Given the description of an element on the screen output the (x, y) to click on. 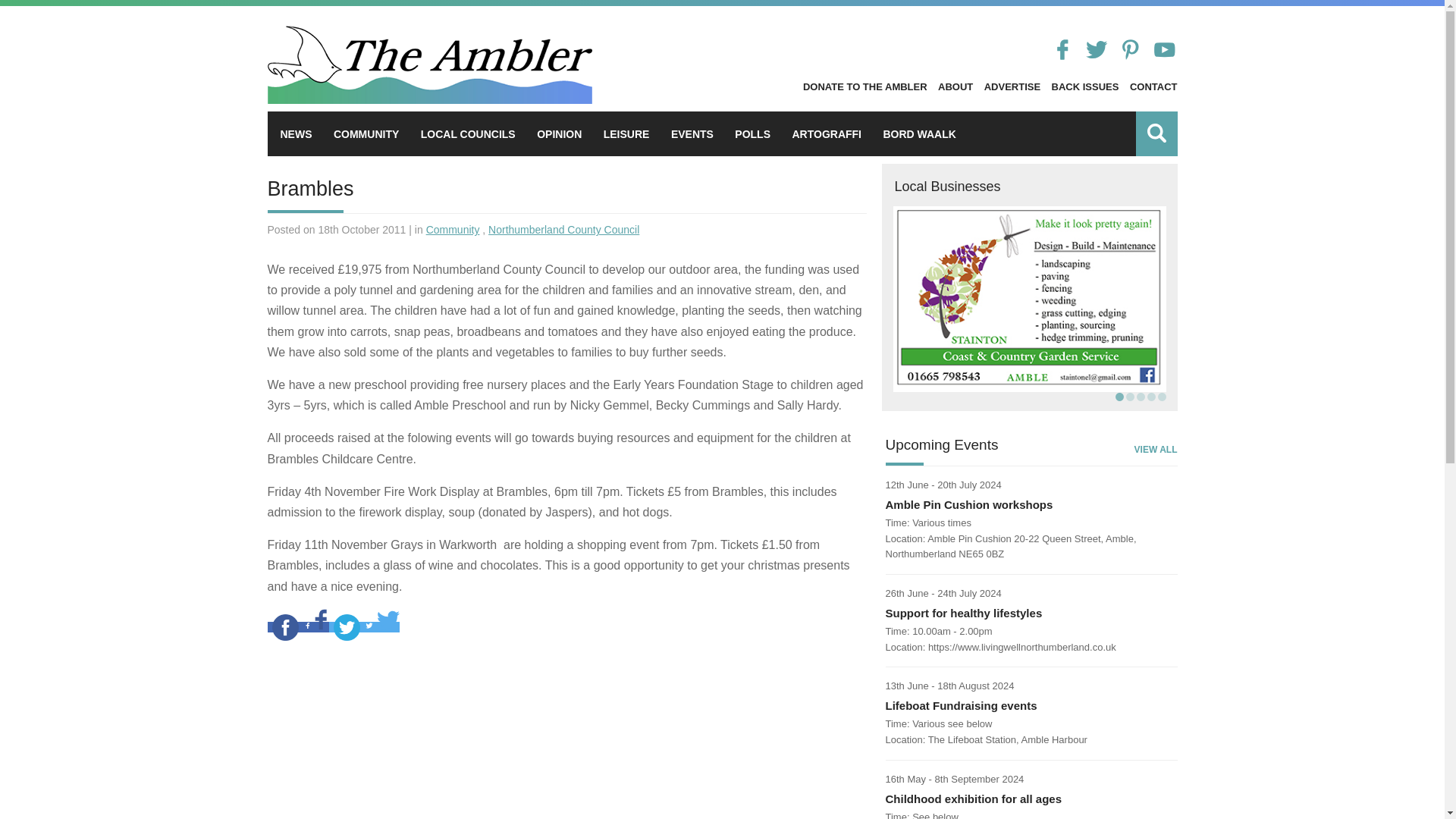
COMMUNITY (365, 133)
ABOUT (954, 86)
BORD WAALK (918, 133)
facebook (284, 627)
DONATE TO THE AMBLER (865, 86)
POLLS (752, 133)
LEISURE (626, 133)
CONTACT (1153, 86)
LOCAL COUNCILS (467, 133)
BACK ISSUES (1085, 86)
NEWS (297, 133)
EVENTS (692, 133)
OPINION (558, 133)
ADVERTISE (1012, 86)
twitter (347, 627)
